Given the description of an element on the screen output the (x, y) to click on. 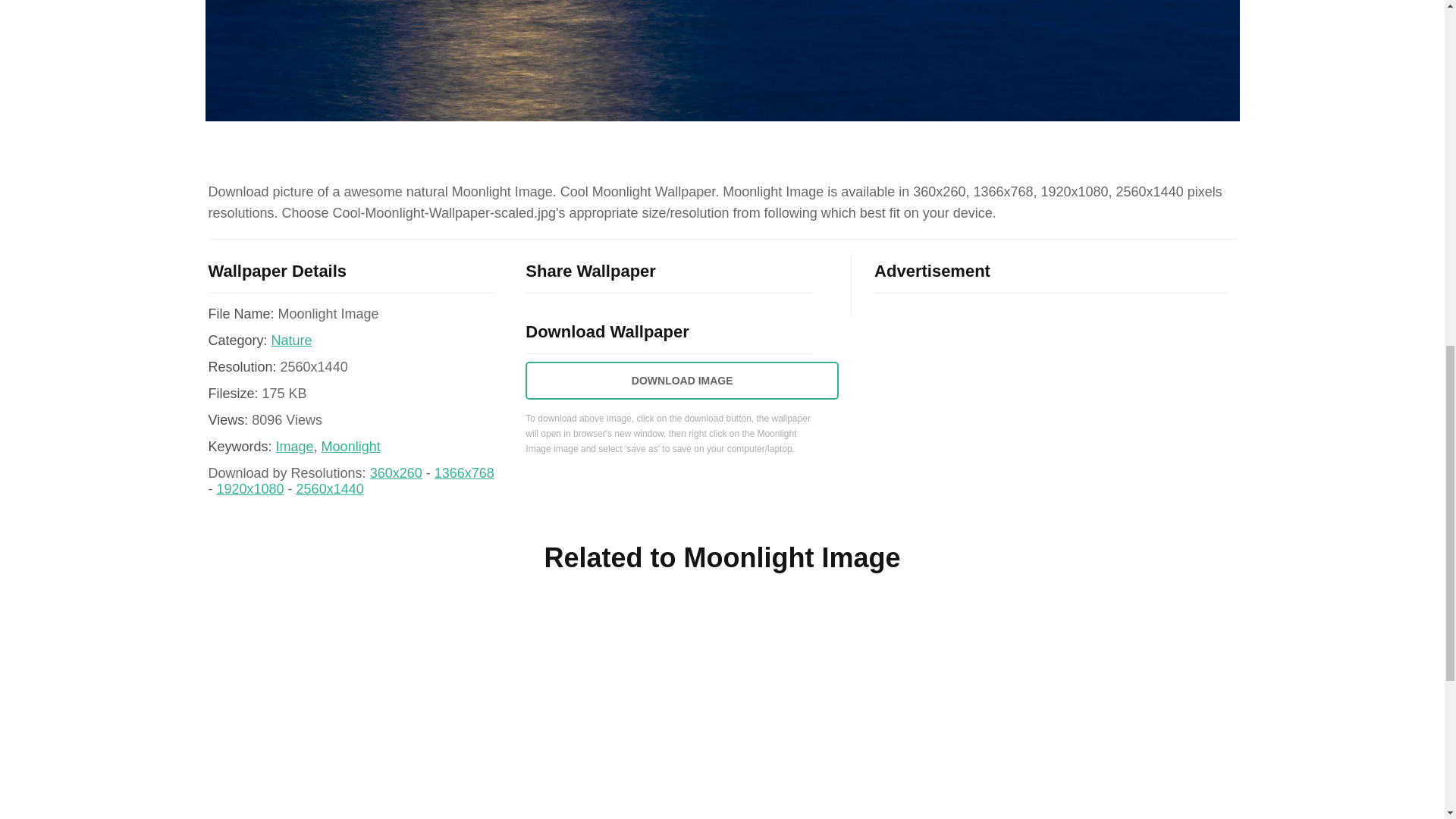
View all posts in Nature (291, 340)
